Given the description of an element on the screen output the (x, y) to click on. 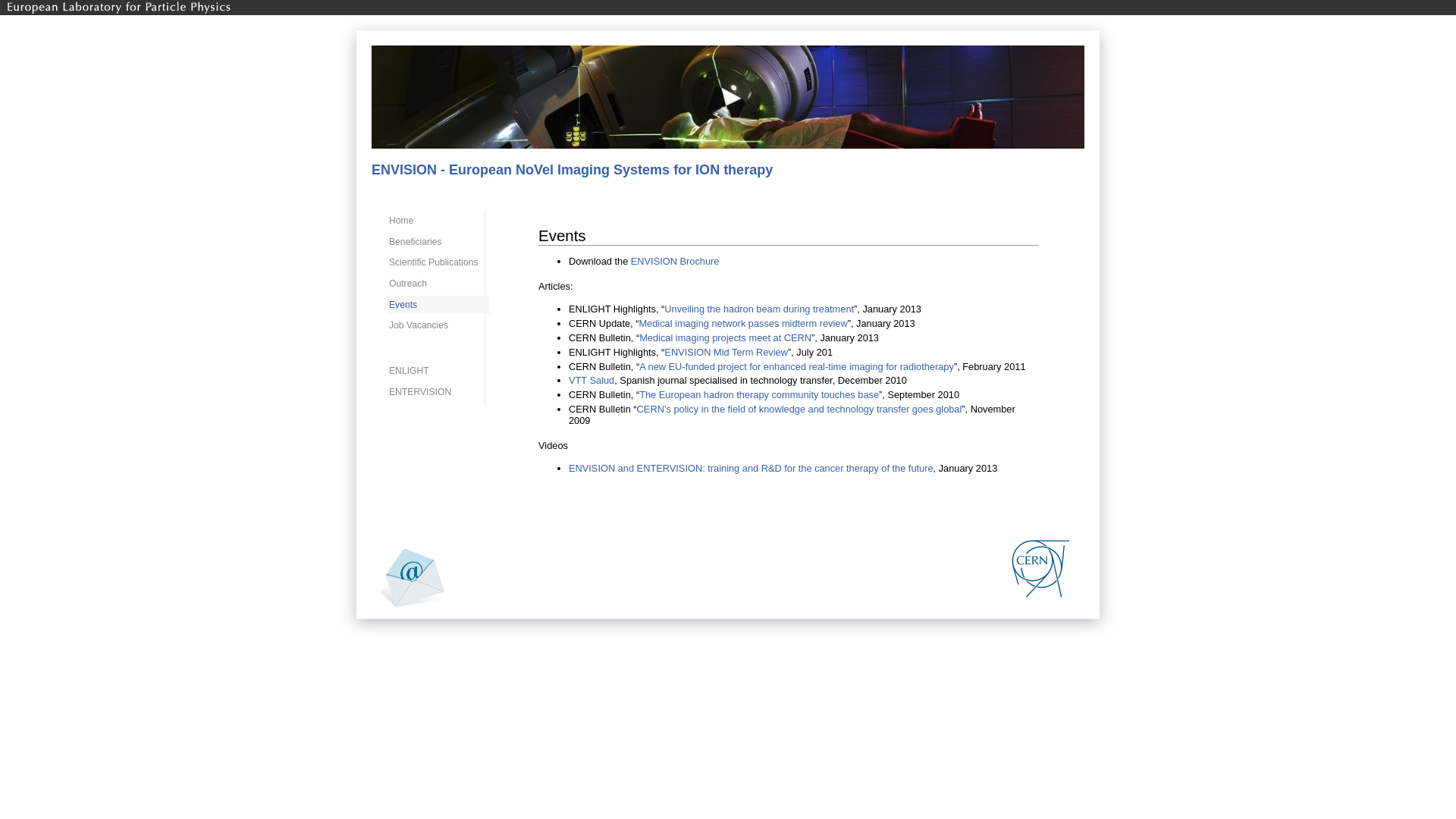
VTT Salud Element type: text (591, 379)
Medical imaging projects meet at CERN Element type: text (725, 337)
ENLIGHT Element type: text (435, 370)
Home Element type: text (435, 220)
ENVISION Mid Term Review Element type: text (725, 351)
Beneficiaries Element type: text (435, 241)
Medical imaging network passes midterm review Element type: text (742, 323)
Outreach Element type: text (435, 283)
Job Vacancies Element type: text (435, 325)
Scientific Publications Element type: text (435, 262)
ENVISION Brochure Element type: text (674, 260)
Events Element type: text (437, 304)
The European hadron therapy community touches base Element type: text (758, 394)
ENTERVISION Element type: text (435, 391)
Unveiling the hadron beam during treatment Element type: text (758, 308)
